Given the description of an element on the screen output the (x, y) to click on. 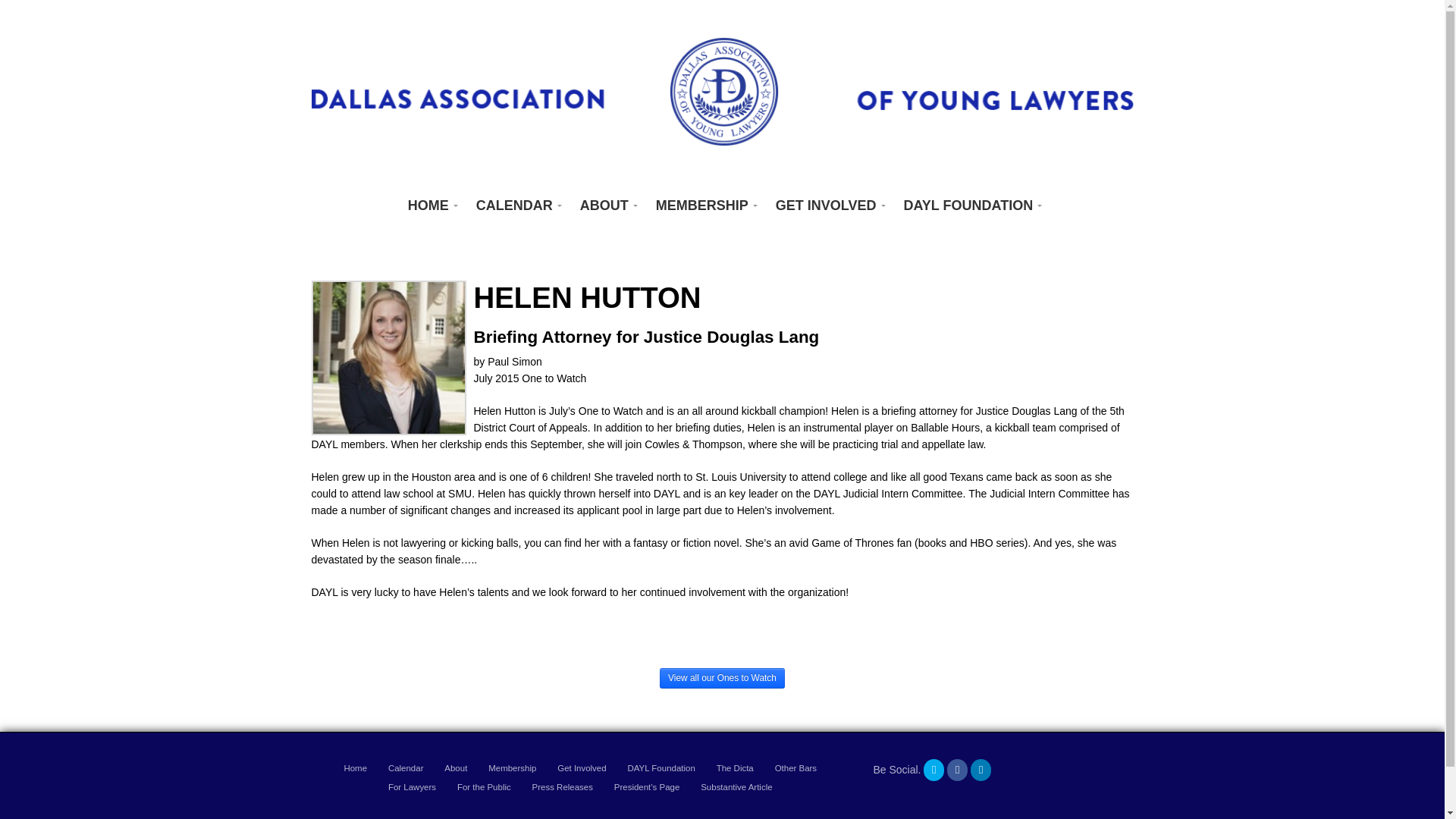
HOME (430, 205)
Other Bars (795, 768)
Membership (511, 768)
View all our Ones to Watch (721, 678)
CALENDAR (515, 205)
Home (354, 768)
Calendar (405, 768)
The Dicta (735, 768)
DAYL Foundation (661, 768)
Get Involved (581, 768)
